Given the description of an element on the screen output the (x, y) to click on. 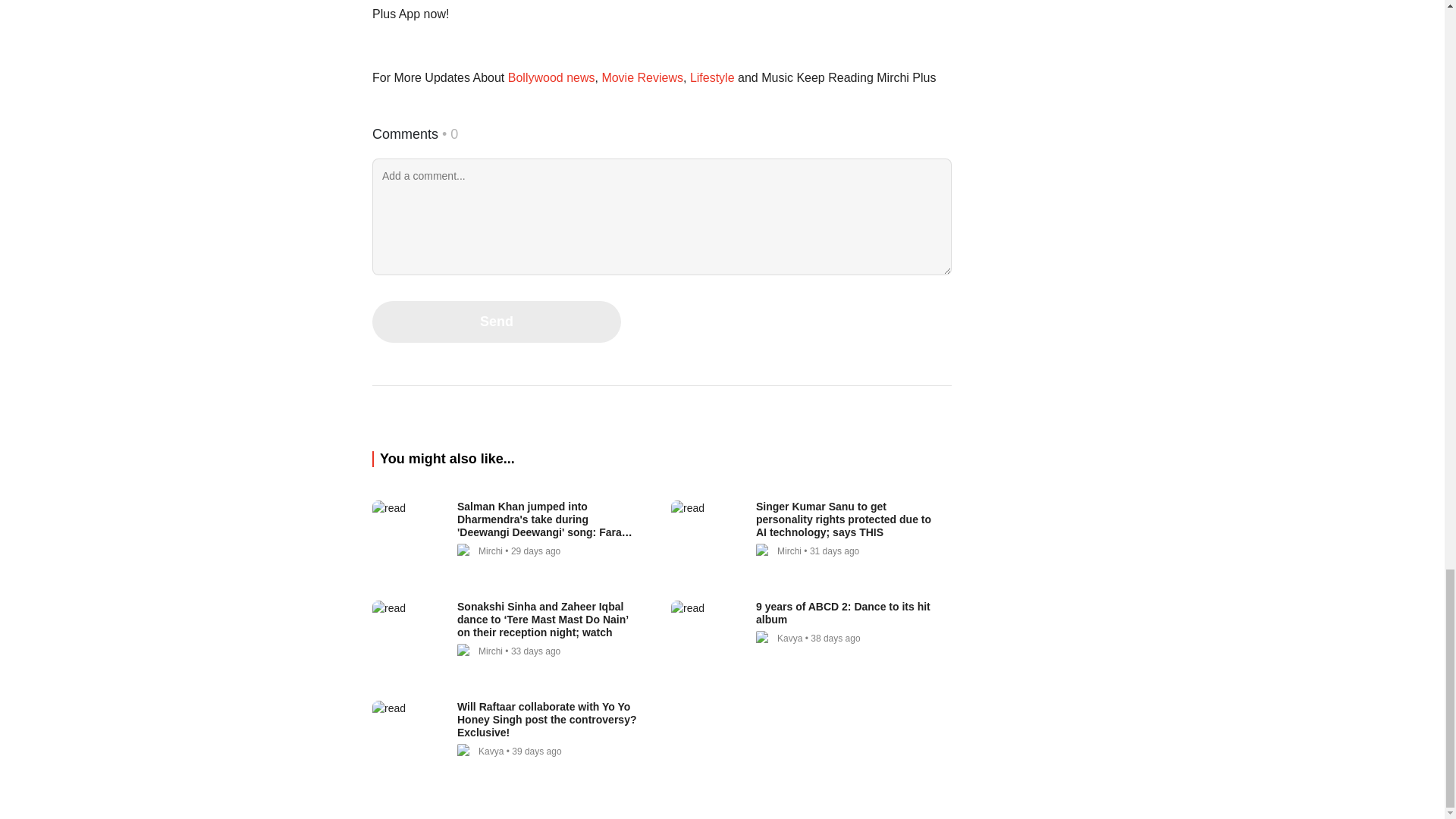
Bollywood news (550, 77)
Lifestyle (710, 77)
Movie Reviews (641, 77)
